Given the description of an element on the screen output the (x, y) to click on. 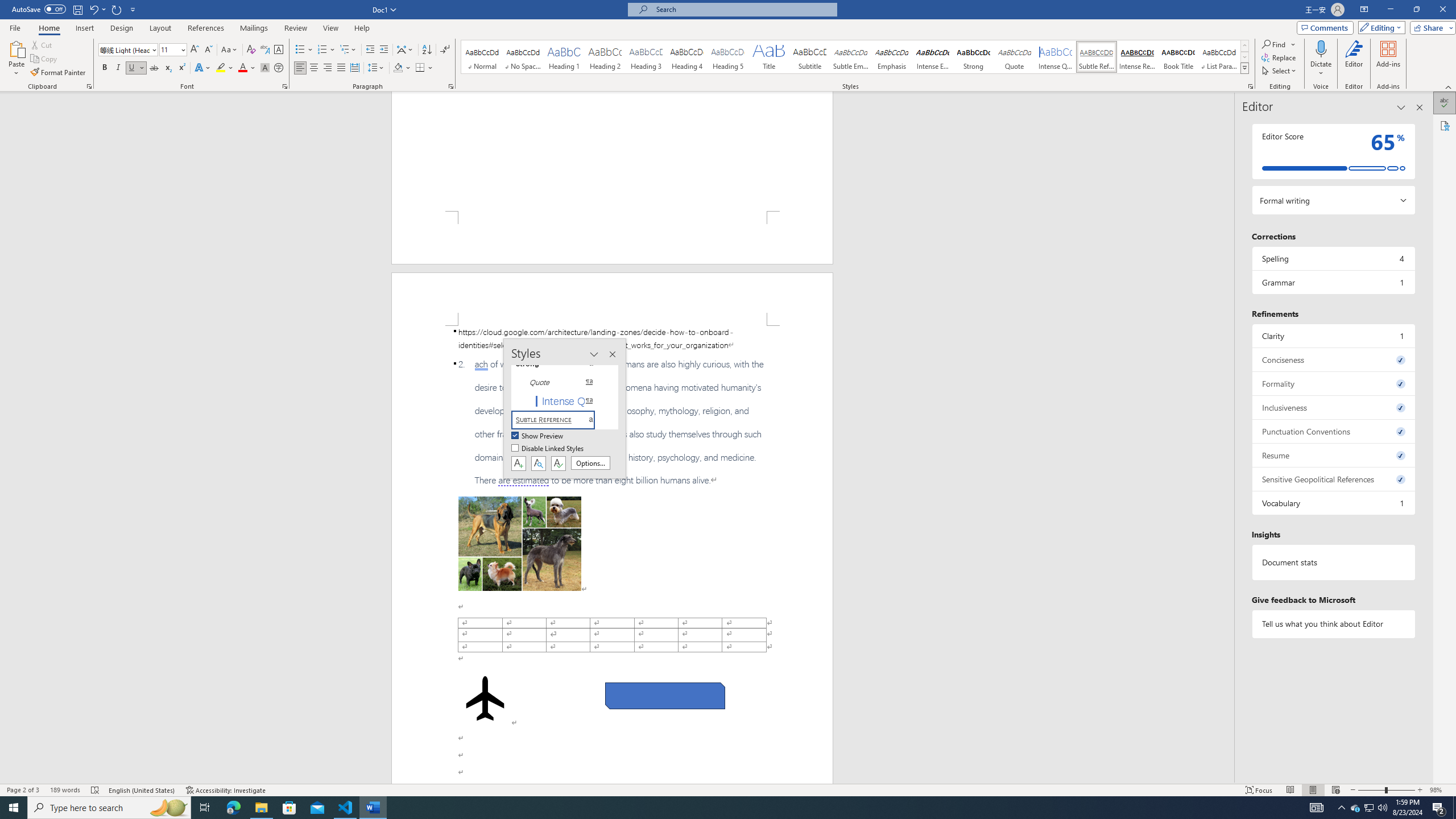
Grammar, 1 issue. Press space or enter to review items. (1333, 282)
